Given the description of an element on the screen output the (x, y) to click on. 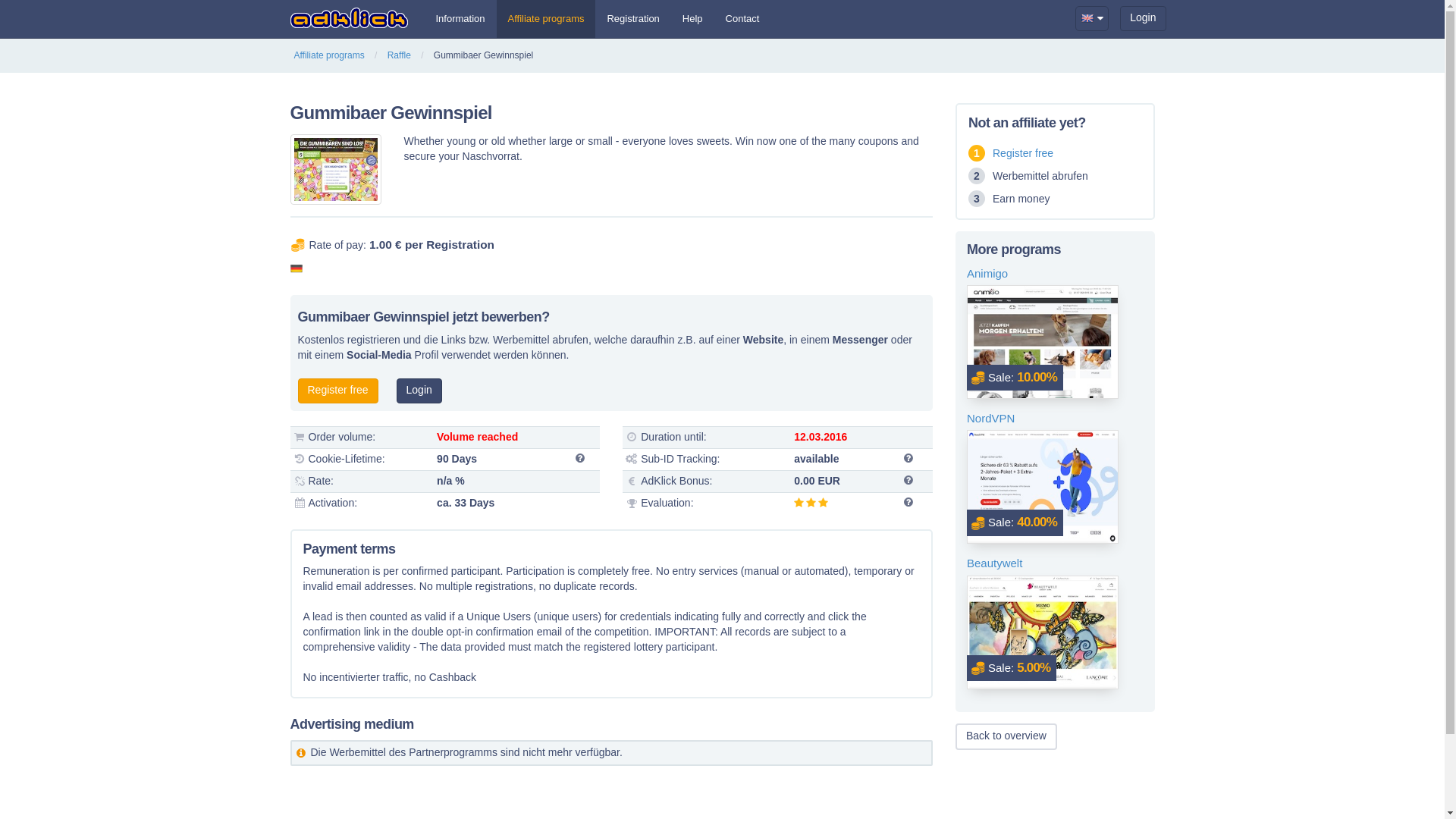
Affiliate programs (329, 54)
Contact (742, 18)
Raffle (398, 54)
Login (1142, 18)
Animigo (1054, 273)
Raffle (398, 54)
Help (692, 18)
Register free (1022, 152)
Login (419, 390)
Register free (337, 390)
